Given the description of an element on the screen output the (x, y) to click on. 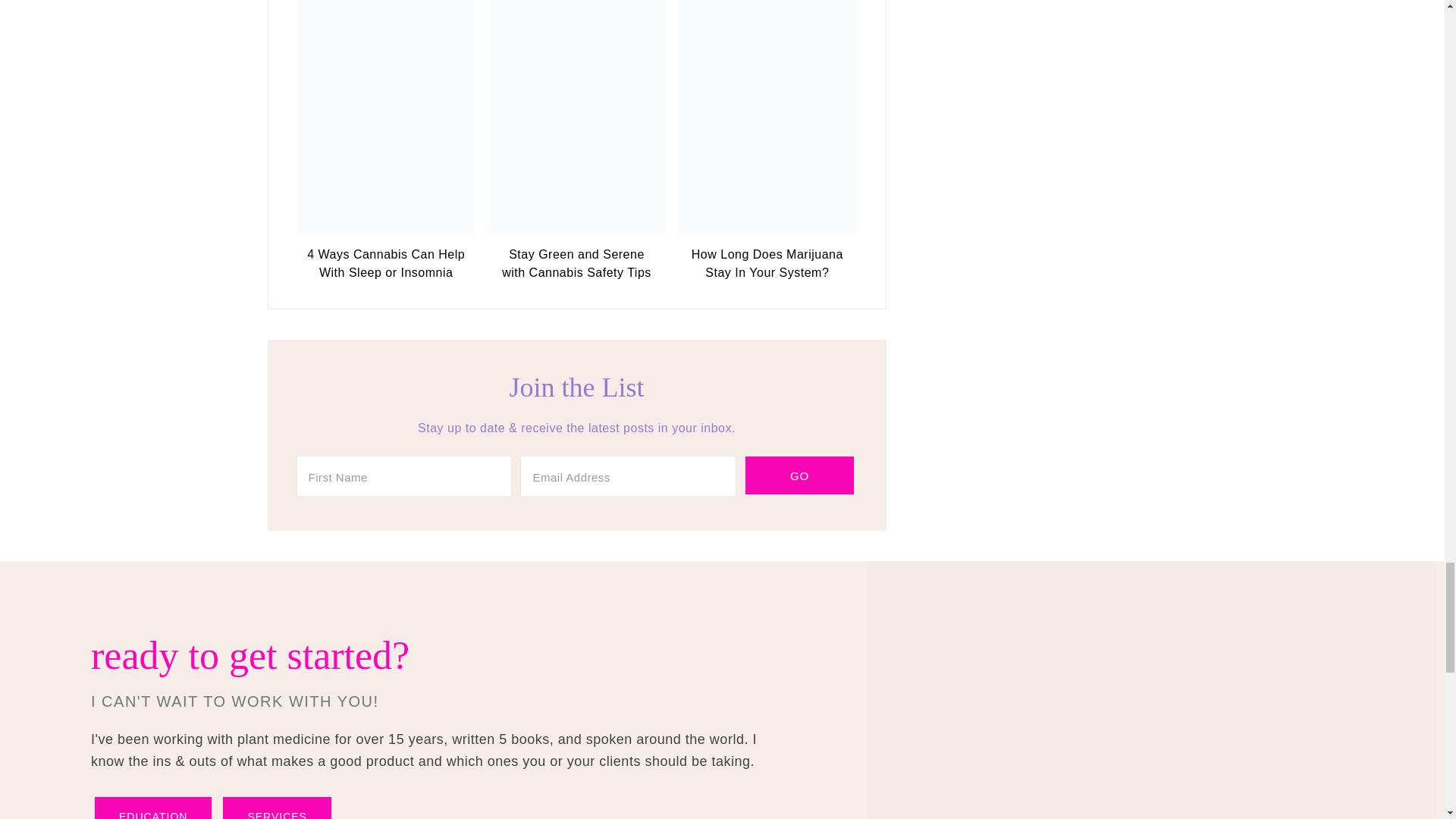
Go (798, 475)
